Given the description of an element on the screen output the (x, y) to click on. 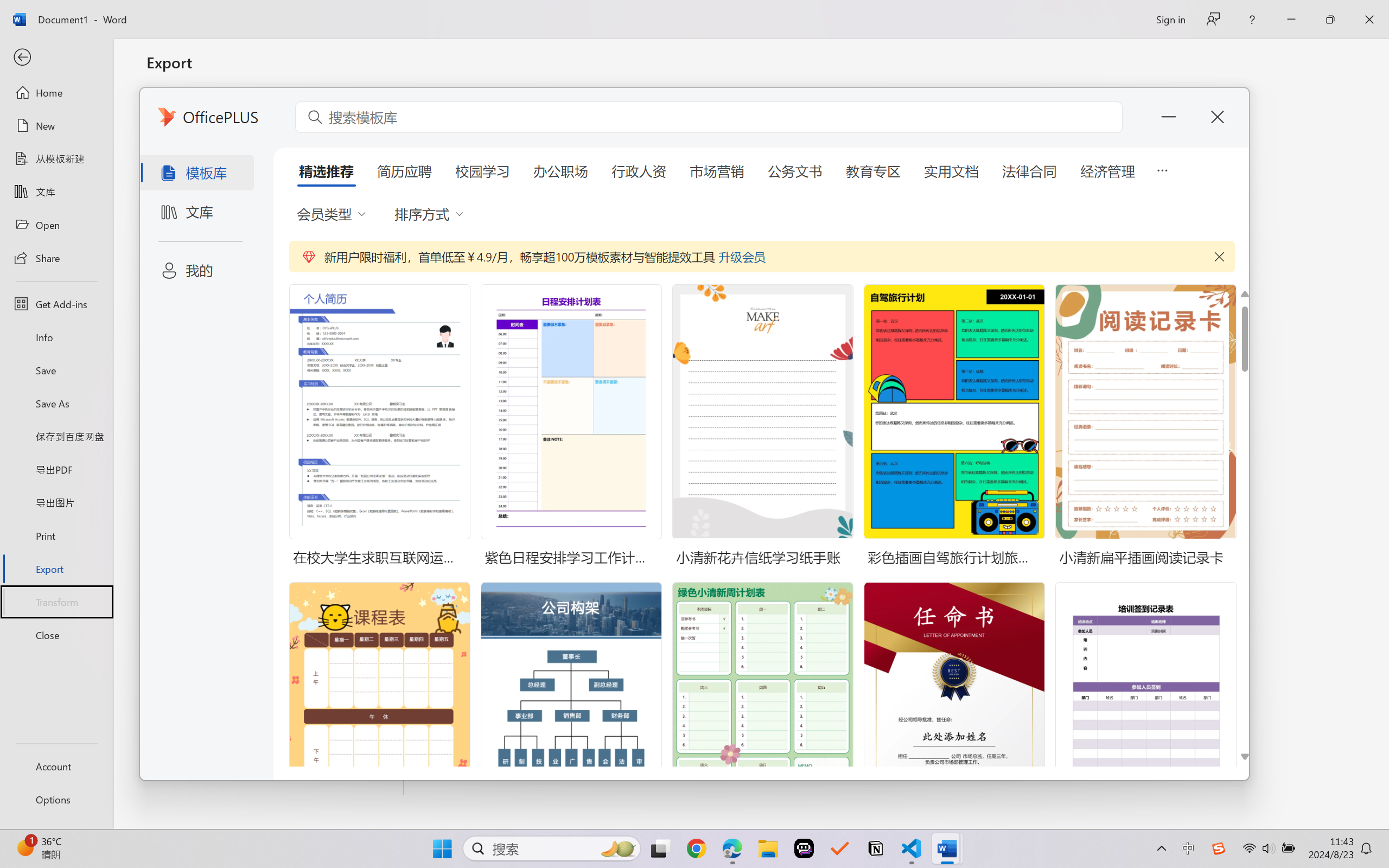
Options (56, 798)
Create PDF/XPS Document (275, 110)
Transform (56, 601)
Export (56, 568)
